Given the description of an element on the screen output the (x, y) to click on. 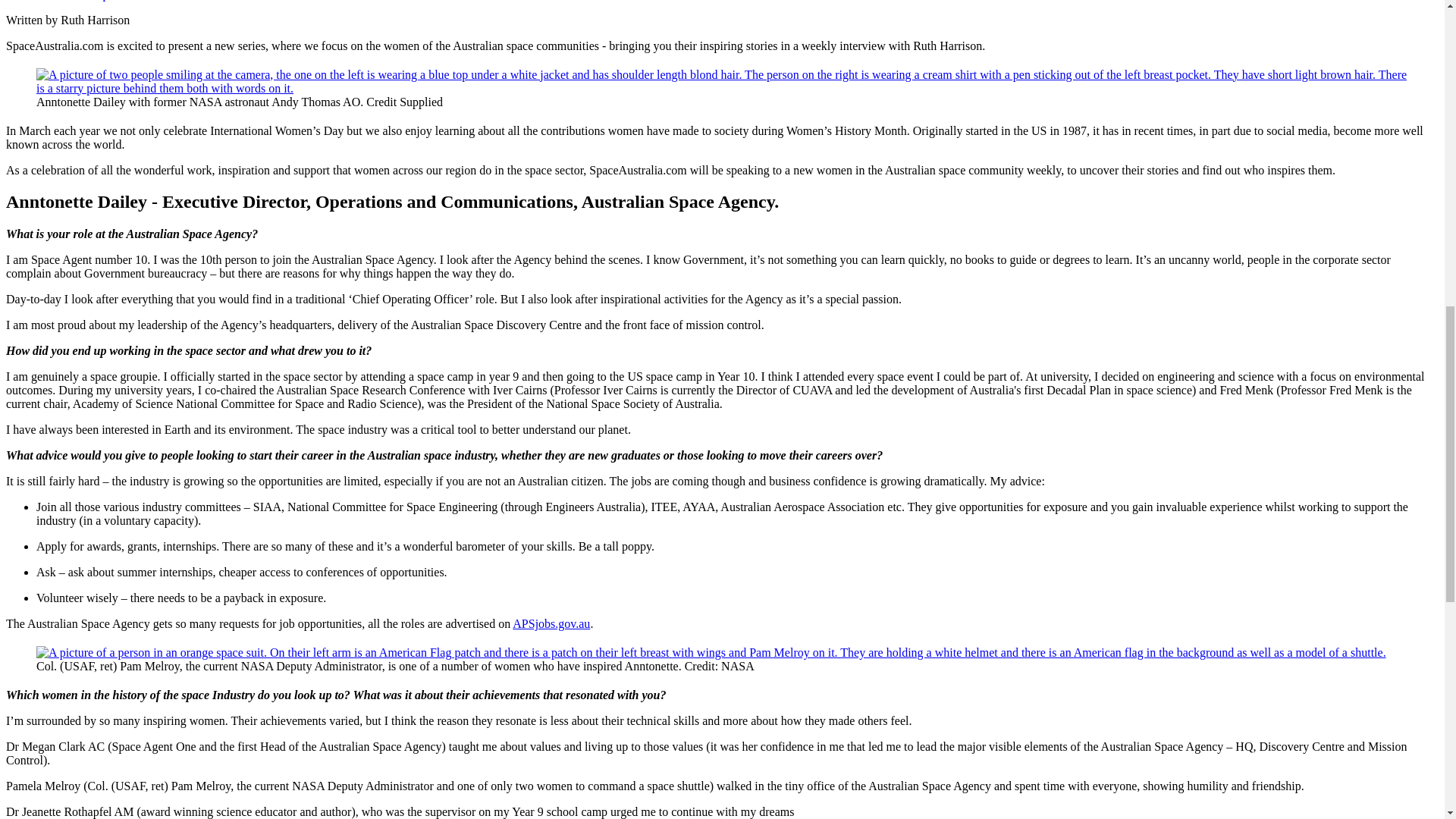
APSjobs.gov.au (550, 623)
